Given the description of an element on the screen output the (x, y) to click on. 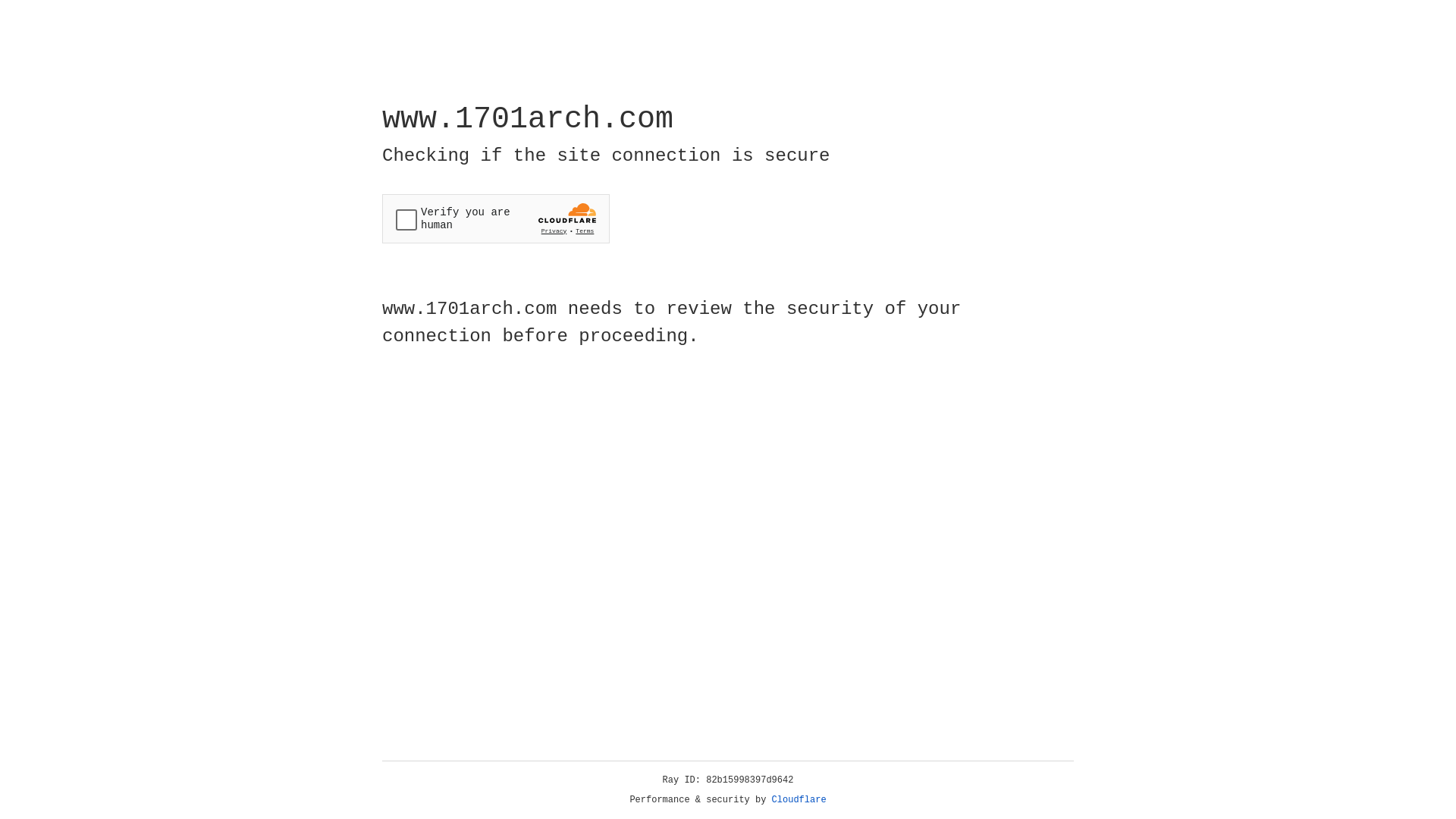
Cloudflare Element type: text (798, 799)
Widget containing a Cloudflare security challenge Element type: hover (495, 218)
